Given the description of an element on the screen output the (x, y) to click on. 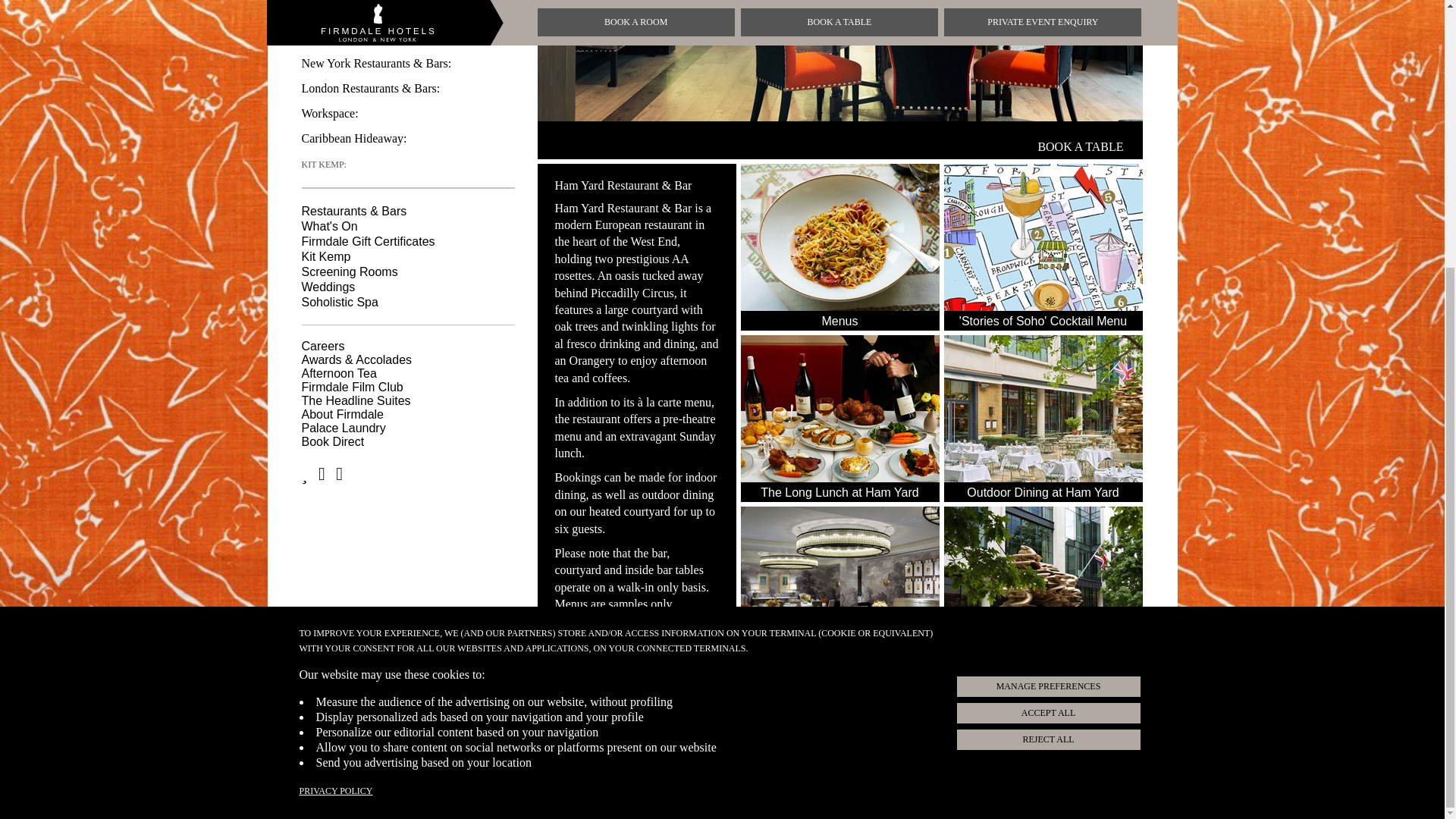
PRIVACY POLICY (335, 402)
REJECT ALL (1047, 350)
ACCEPT ALL (1047, 324)
MANAGE PREFERENCES (1047, 297)
